Given the description of an element on the screen output the (x, y) to click on. 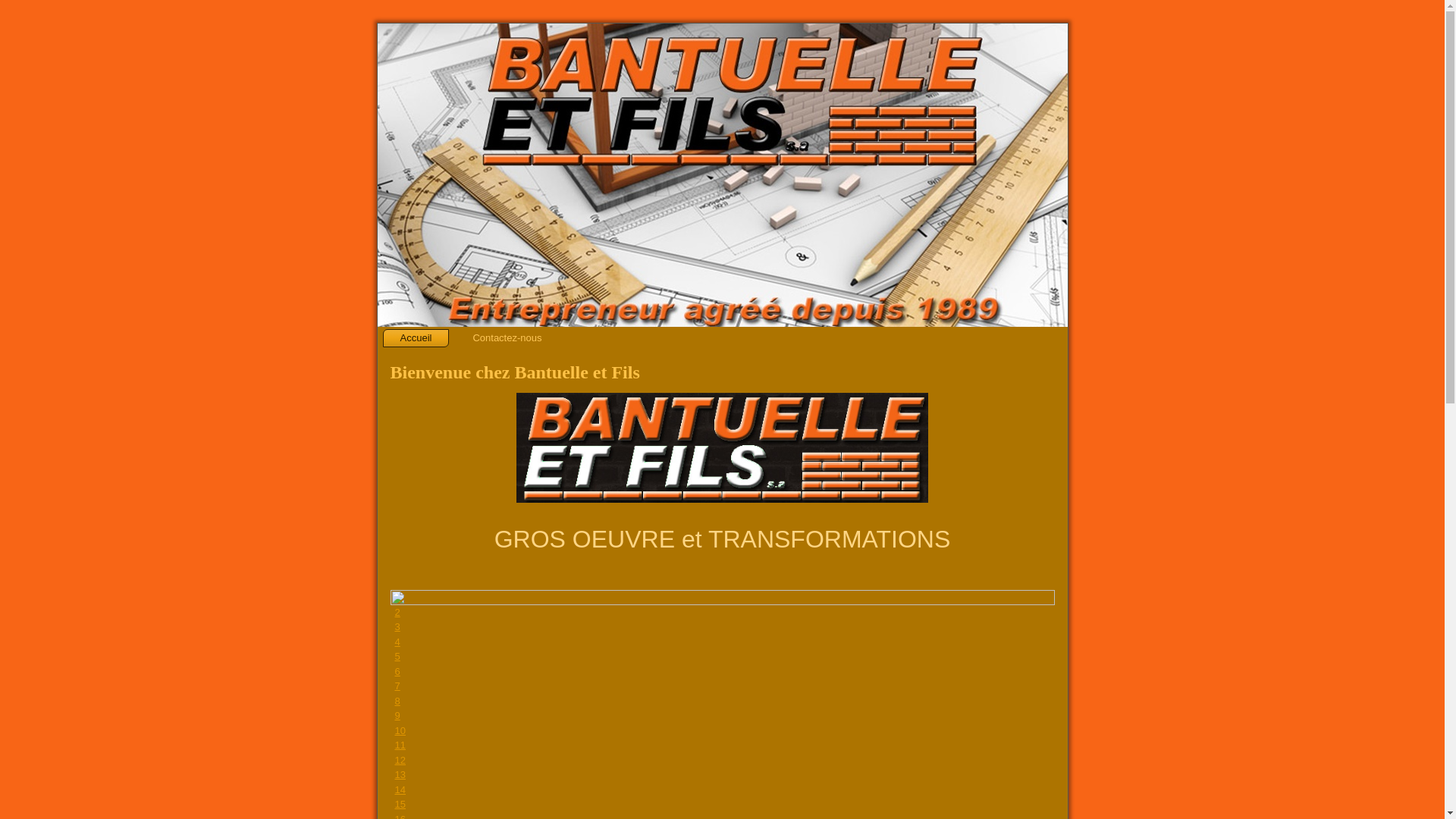
10 Element type: text (399, 730)
11 Element type: text (399, 744)
14 Element type: text (399, 789)
4 Element type: text (396, 640)
1 Element type: text (396, 596)
Accueil Element type: text (415, 338)
6 Element type: text (396, 671)
12 Element type: text (399, 759)
13 Element type: text (399, 774)
7 Element type: text (396, 685)
2 Element type: text (396, 612)
Contactez-nous Element type: text (506, 338)
8 Element type: text (396, 700)
3 Element type: text (396, 626)
15 Element type: text (399, 803)
5 Element type: text (396, 656)
9 Element type: text (396, 715)
